Given the description of an element on the screen output the (x, y) to click on. 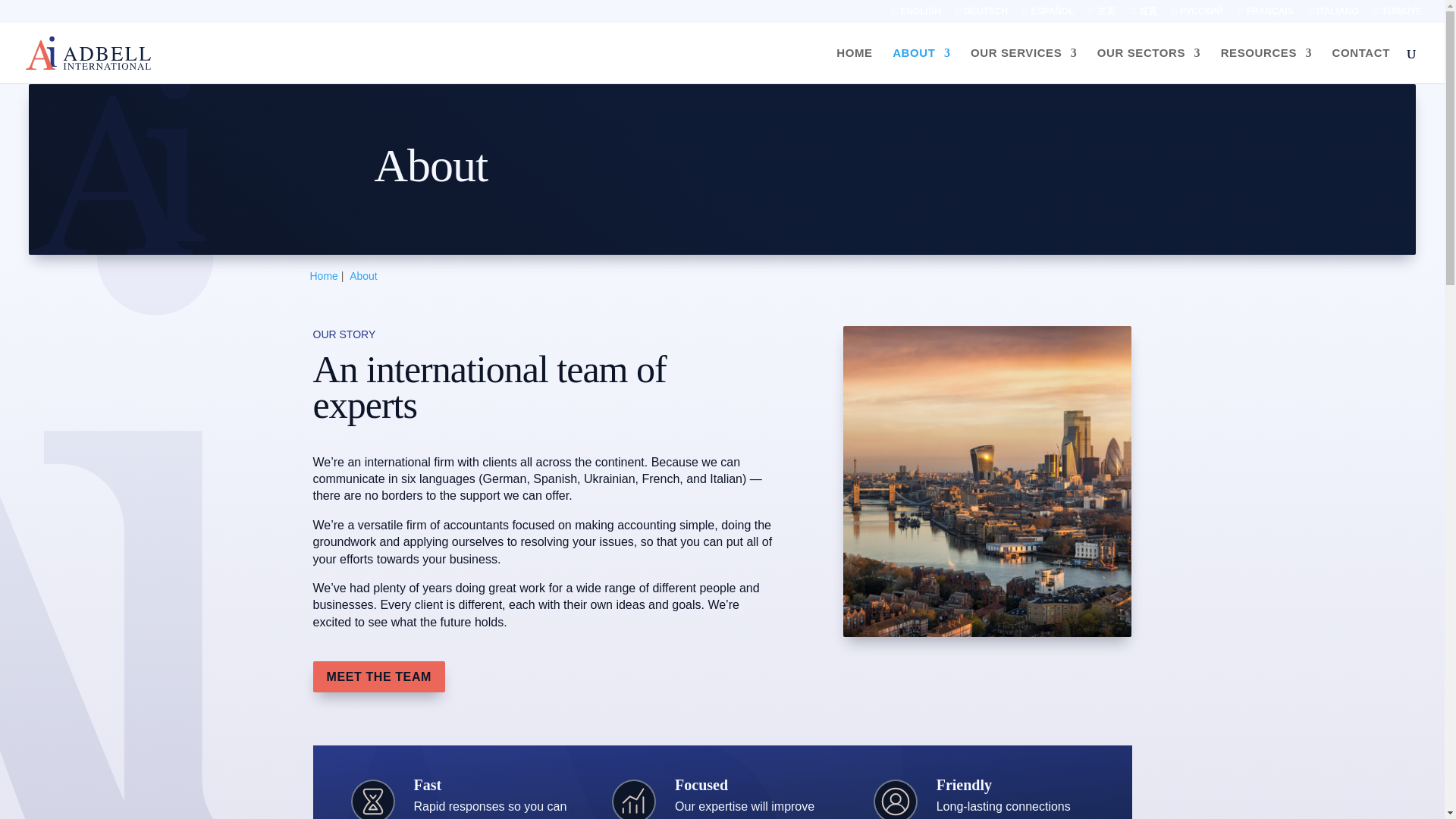
AI-home-about (987, 481)
